Given the description of an element on the screen output the (x, y) to click on. 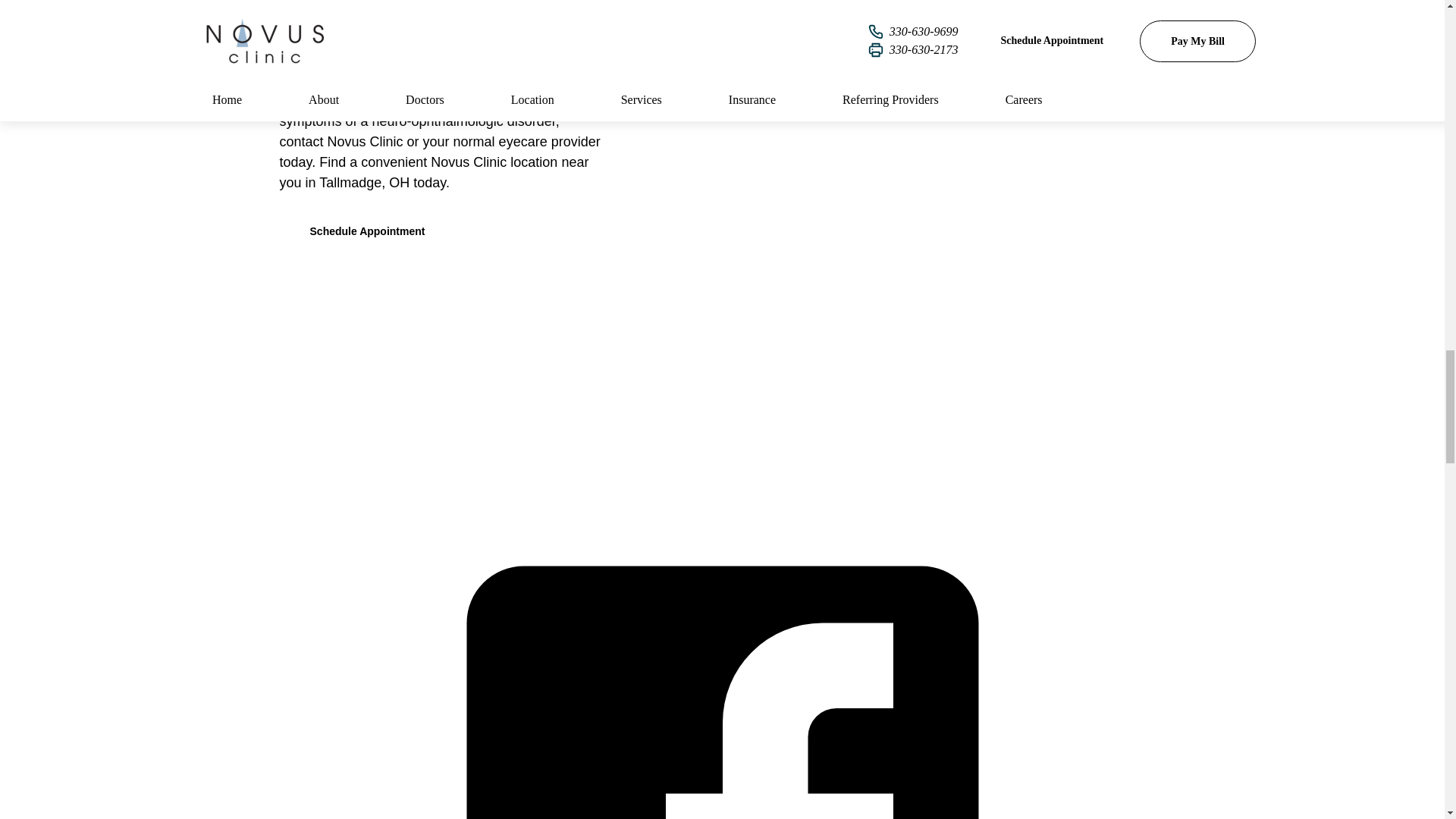
Referring Providers (552, 385)
Schedule Appointment (367, 231)
Accessibility (756, 423)
Privacy Policy (901, 423)
Covid-19 Response (890, 385)
Billing Inquiry (975, 347)
Notice of Privacy Practice (576, 423)
Contact Us (833, 347)
No Surprise Act (722, 385)
Meet Our Doctors (577, 347)
